Given the description of an element on the screen output the (x, y) to click on. 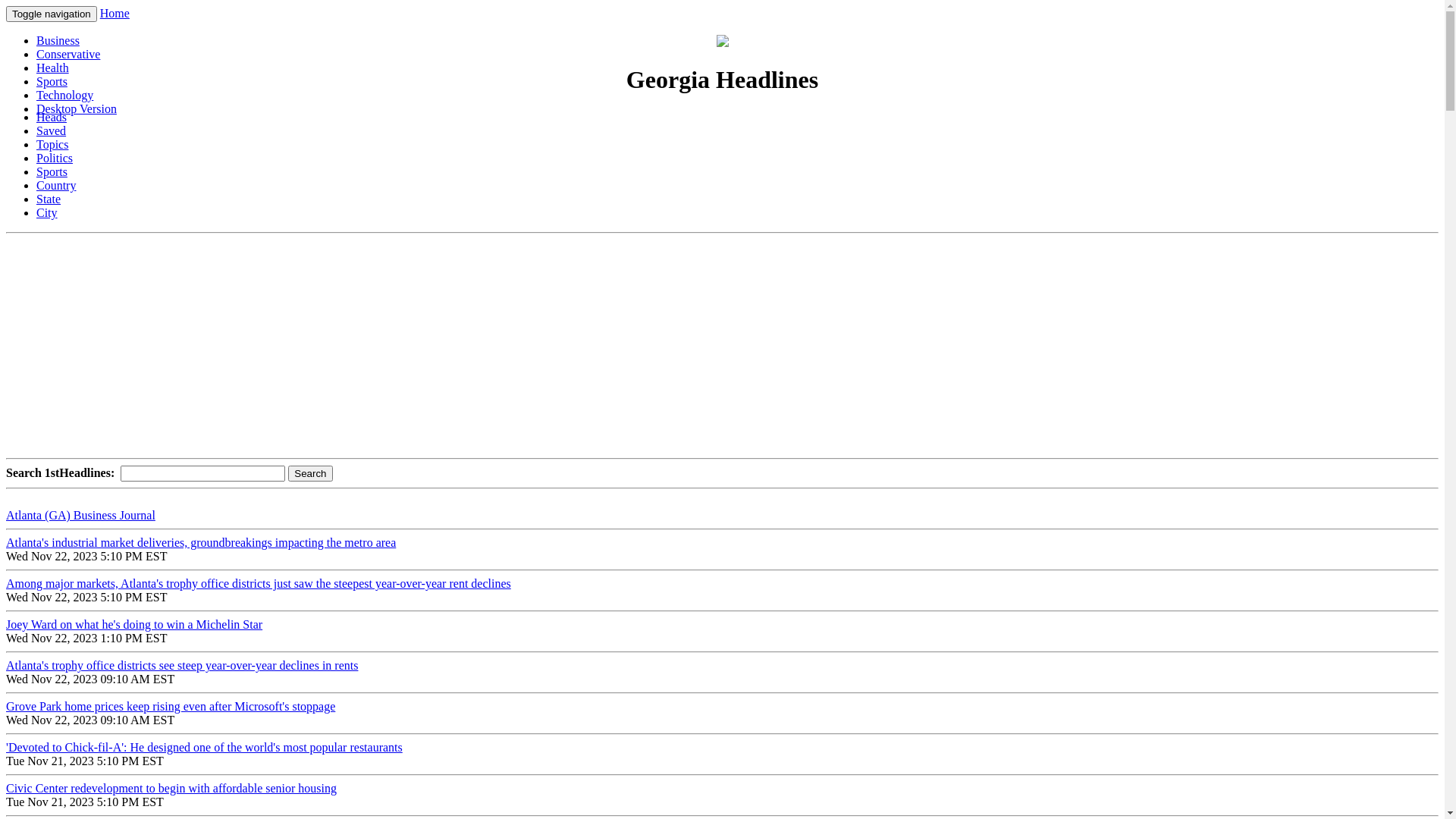
State Element type: text (48, 198)
City Element type: text (46, 212)
Search Element type: text (310, 473)
Sports Element type: text (51, 81)
Topics Element type: text (52, 144)
Heads Element type: text (51, 116)
Sports Element type: text (51, 171)
Home Element type: text (114, 12)
Technology Element type: text (64, 94)
Atlanta (GA) Business Journal Element type: text (80, 514)
Desktop Version Element type: text (76, 108)
Health Element type: text (52, 67)
Toggle navigation Element type: text (51, 13)
Country Element type: text (55, 184)
Conservative Element type: text (68, 53)
Business Element type: text (57, 40)
Politics Element type: text (54, 157)
Advertisement Element type: hover (461, 345)
Joey Ward on what he's doing to win a Michelin Star Element type: text (134, 624)
Saved Element type: text (50, 130)
